Given the description of an element on the screen output the (x, y) to click on. 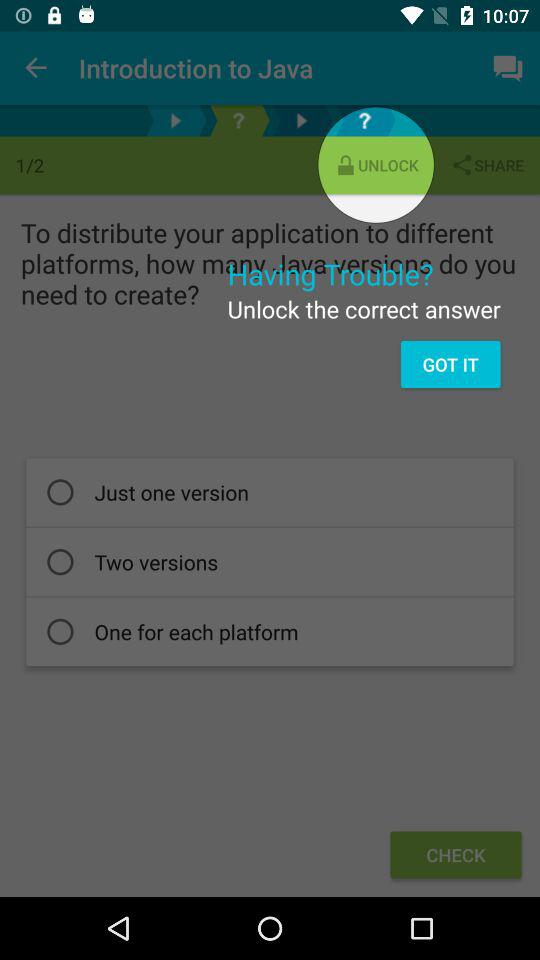
go the next page (301, 120)
